Given the description of an element on the screen output the (x, y) to click on. 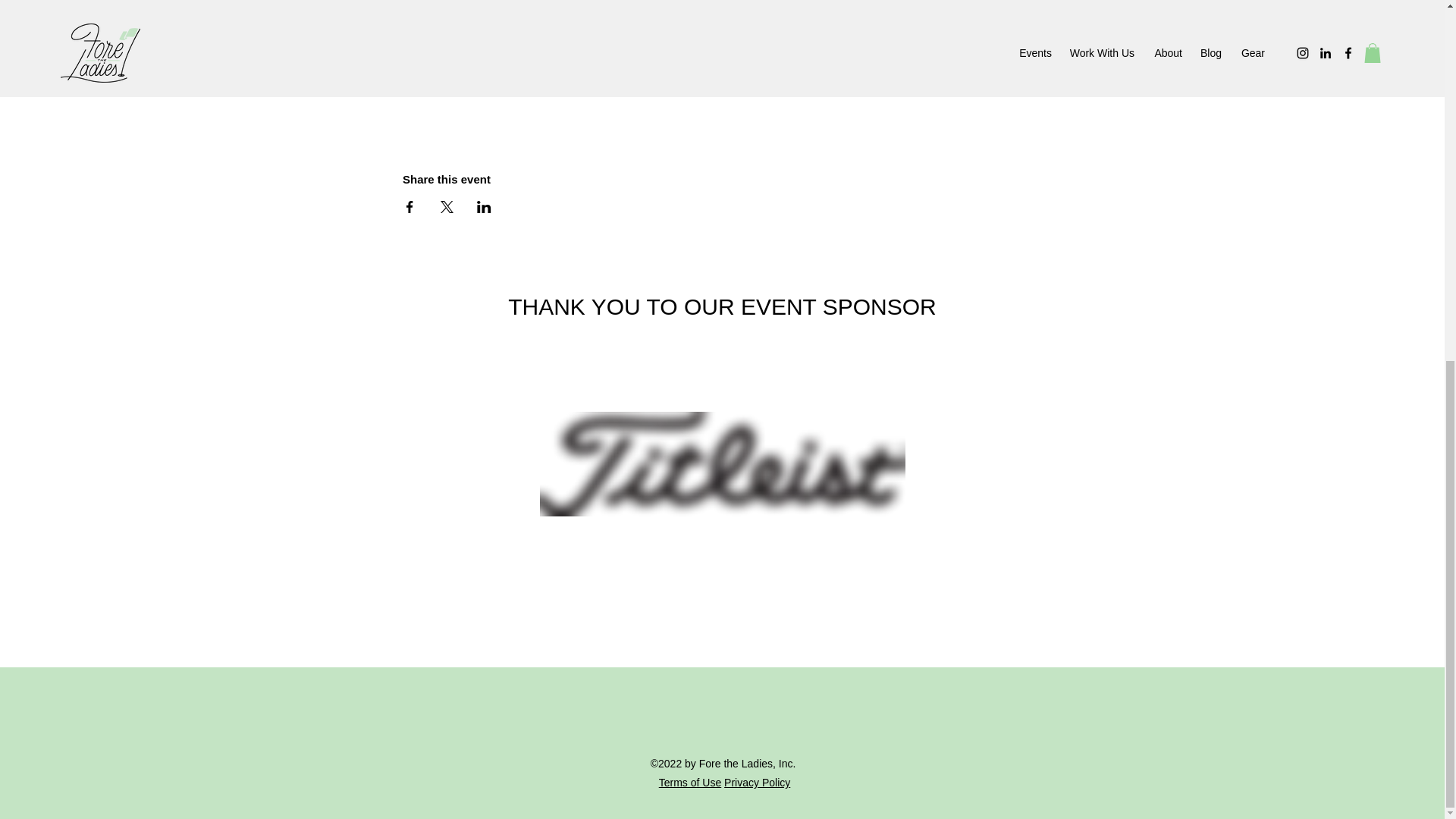
Terms of Use (689, 782)
Privacy Policy (756, 782)
